Given the description of an element on the screen output the (x, y) to click on. 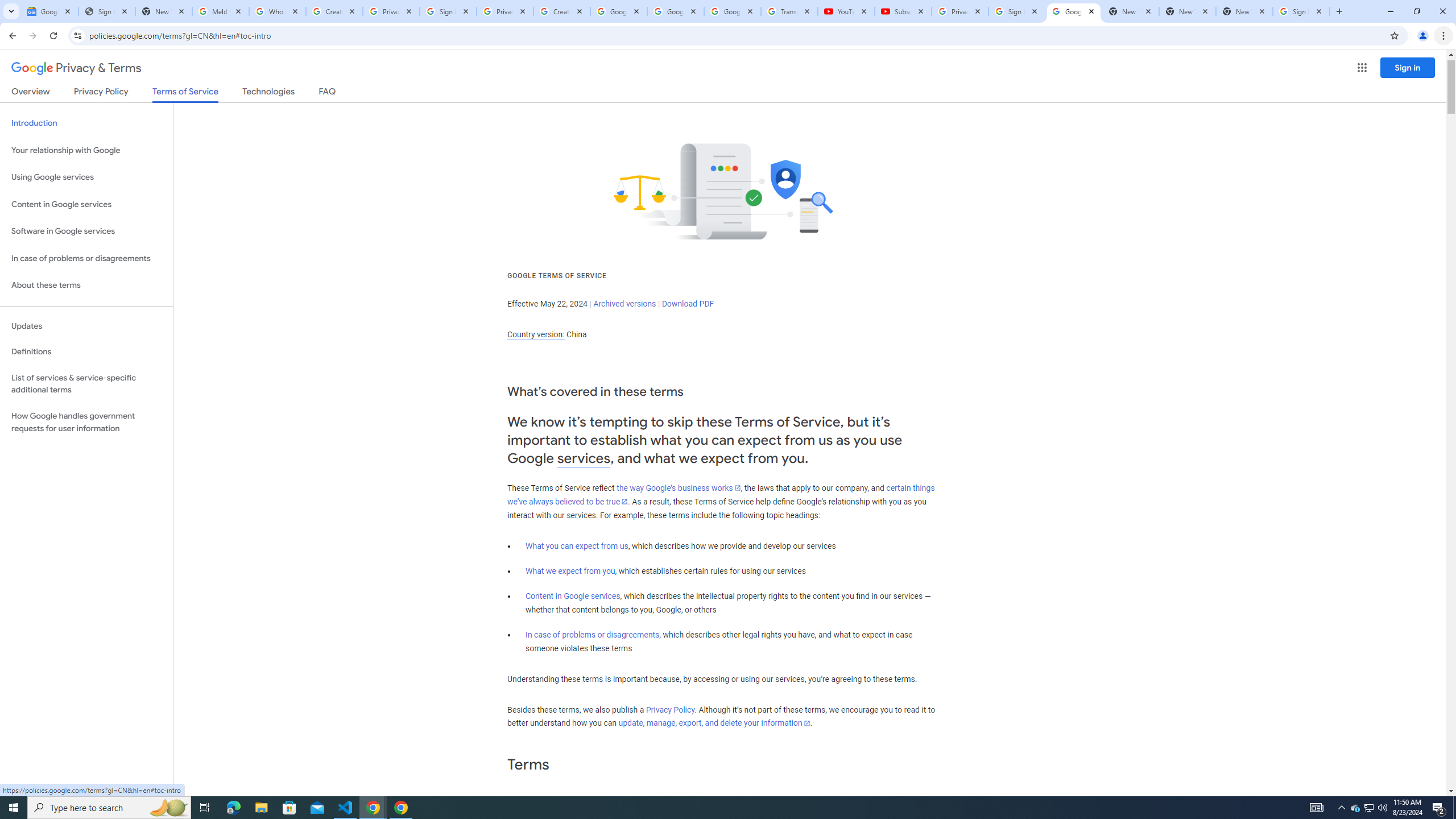
Software in Google services (86, 230)
Your relationship with Google (86, 150)
Create your Google Account (561, 11)
update, manage, export, and delete your information (714, 723)
What we expect from you (570, 570)
